Given the description of an element on the screen output the (x, y) to click on. 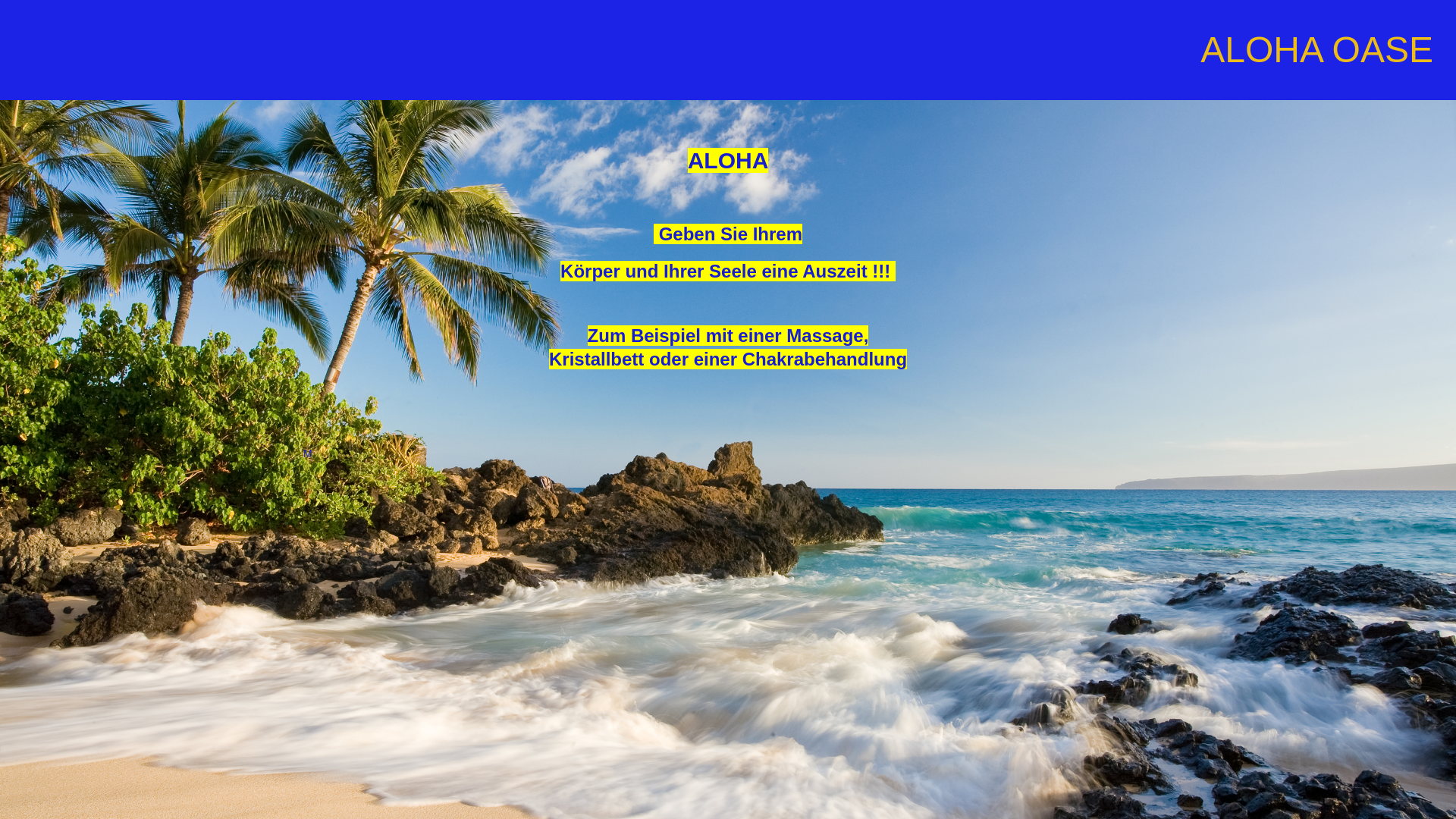
  Element type: text (655, 233)
Geben Sie Ihrem Element type: text (730, 233)
ALOHA OASE Element type: text (1316, 49)
ALOHA Element type: text (727, 159)
